Given the description of an element on the screen output the (x, y) to click on. 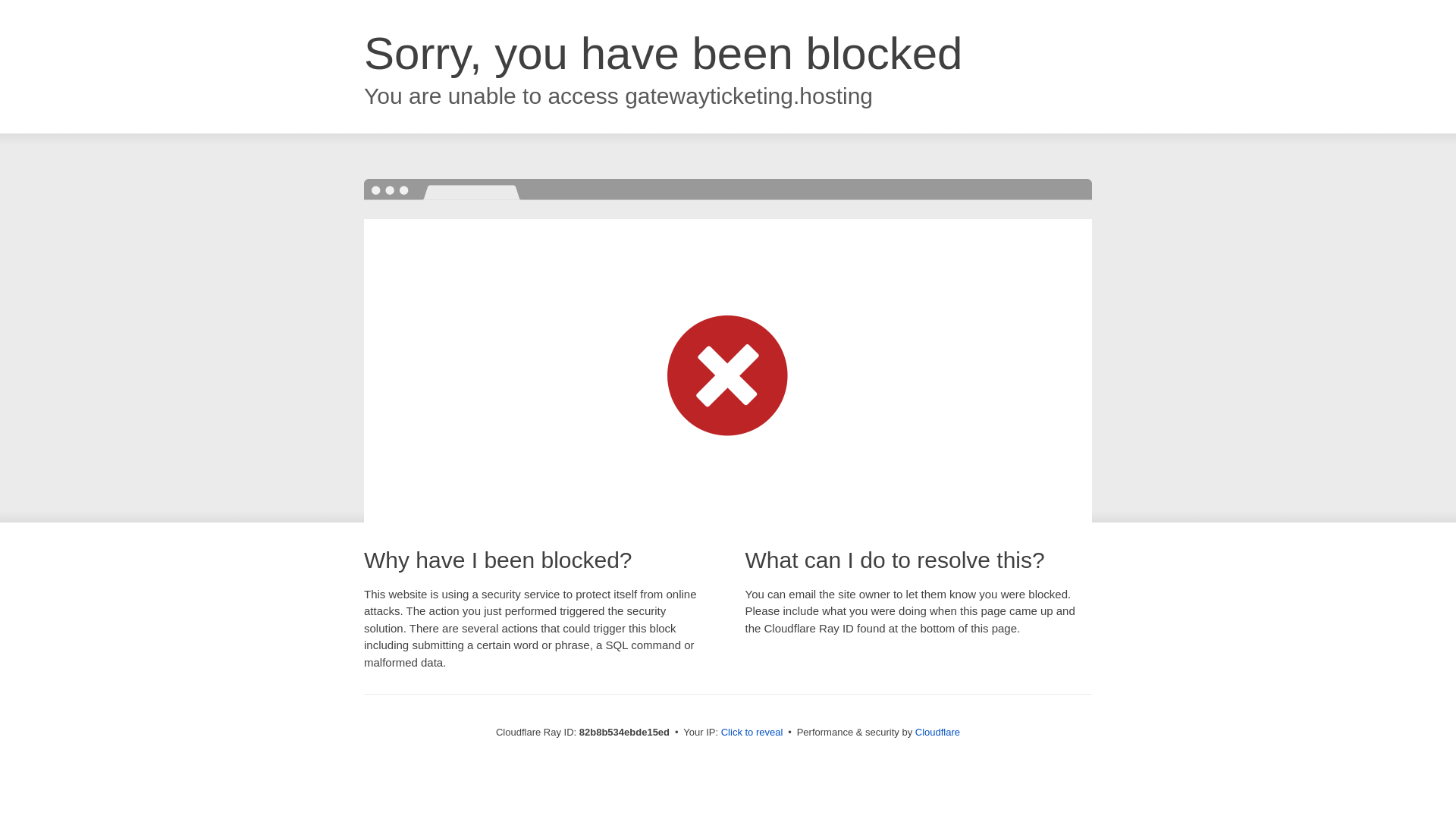
Cloudflare Element type: text (937, 731)
Click to reveal Element type: text (752, 732)
